Given the description of an element on the screen output the (x, y) to click on. 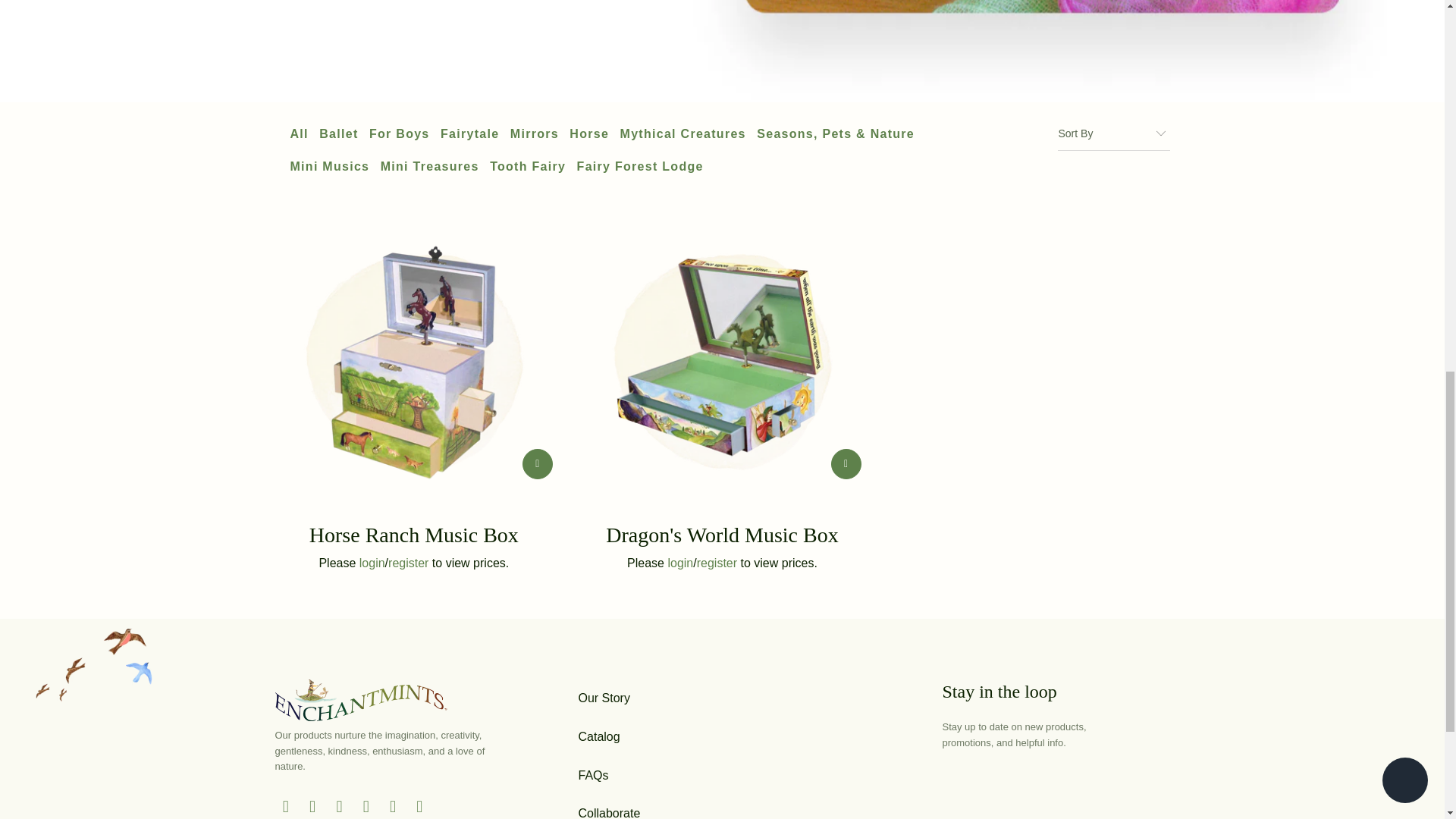
Enchantmints Wholesale on Facebook (312, 806)
Enchantmints Wholesale on YouTube (339, 806)
Enchantmints Wholesale on Instagram (392, 806)
Enchantmints Wholesale on Twitter (286, 806)
Enchantmints Wholesale on Pinterest (366, 806)
Email Enchantmints Wholesale (419, 806)
